Given the description of an element on the screen output the (x, y) to click on. 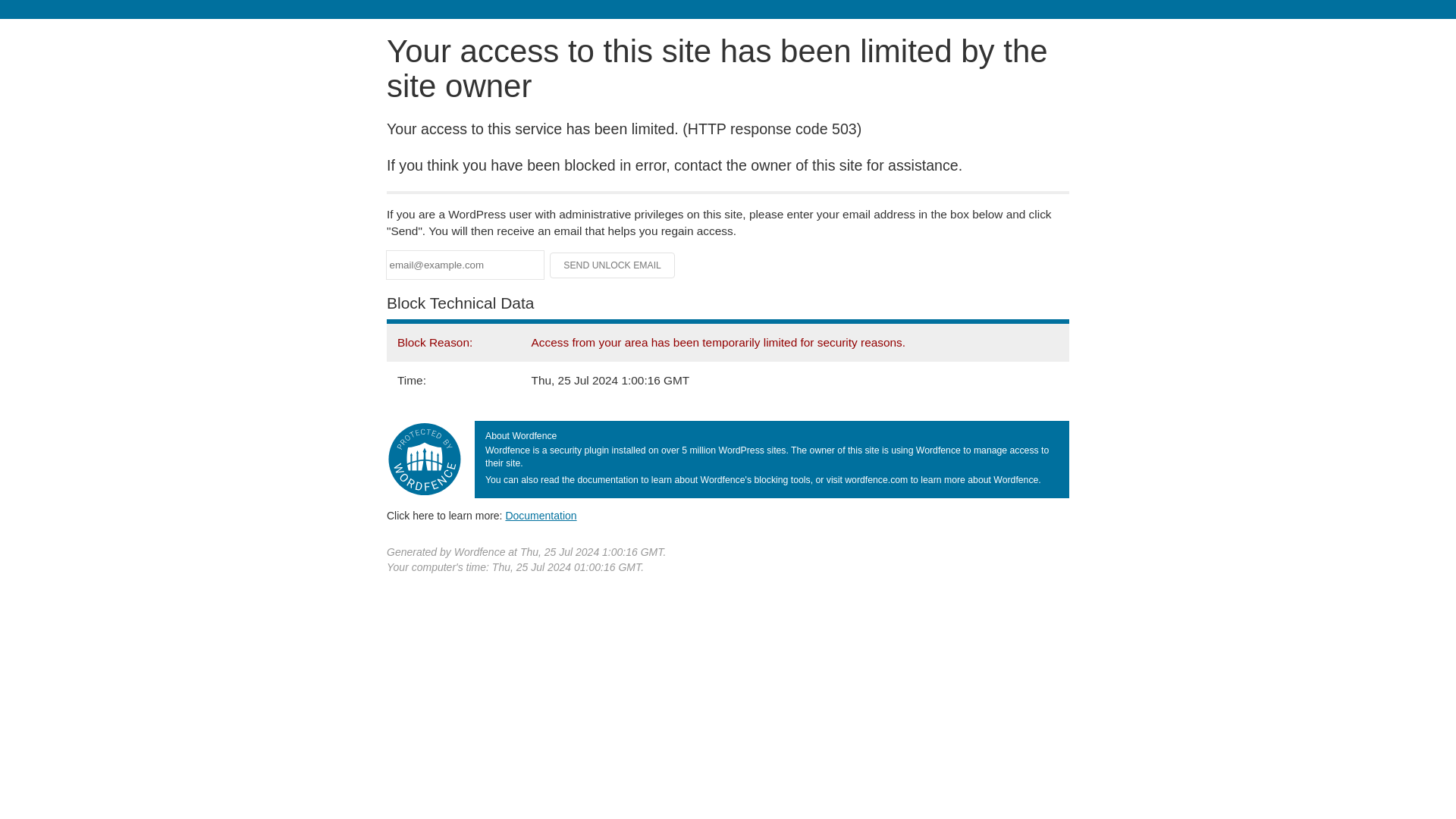
Documentation (540, 515)
Send Unlock Email (612, 265)
Send Unlock Email (612, 265)
